Given the description of an element on the screen output the (x, y) to click on. 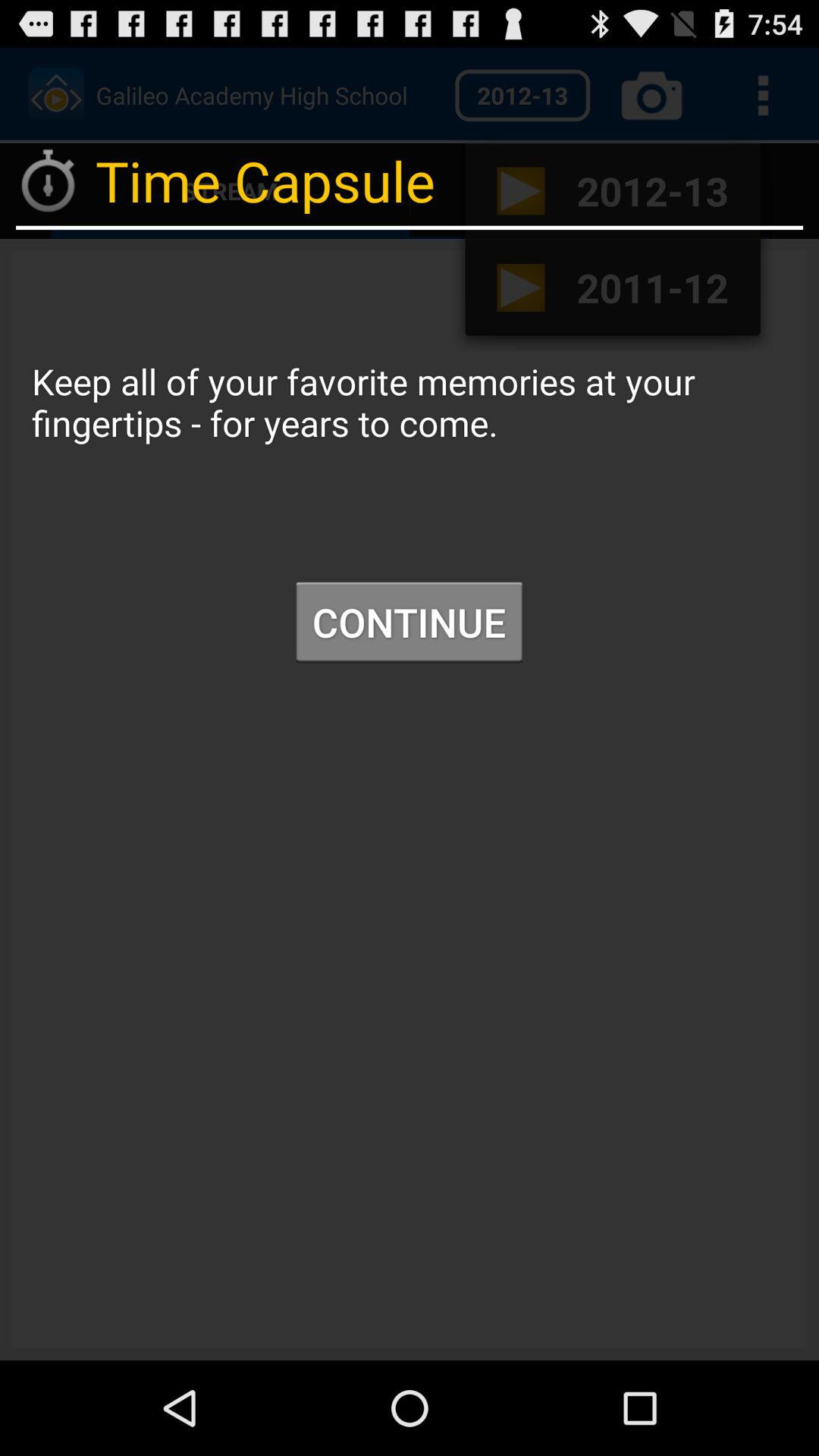
turn off icon at the center (409, 621)
